Given the description of an element on the screen output the (x, y) to click on. 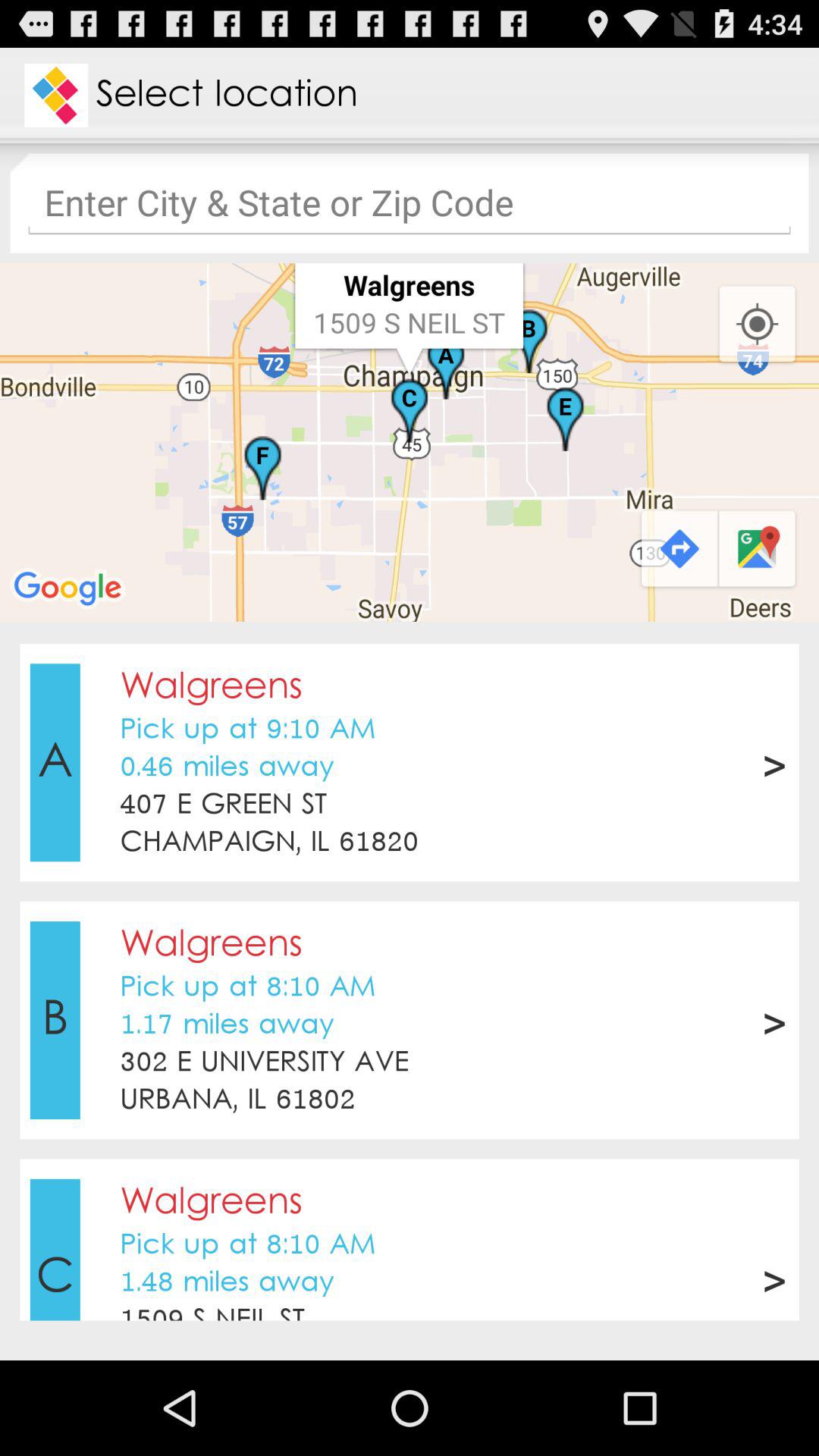
scroll until the 0 46 miles (226, 767)
